Given the description of an element on the screen output the (x, y) to click on. 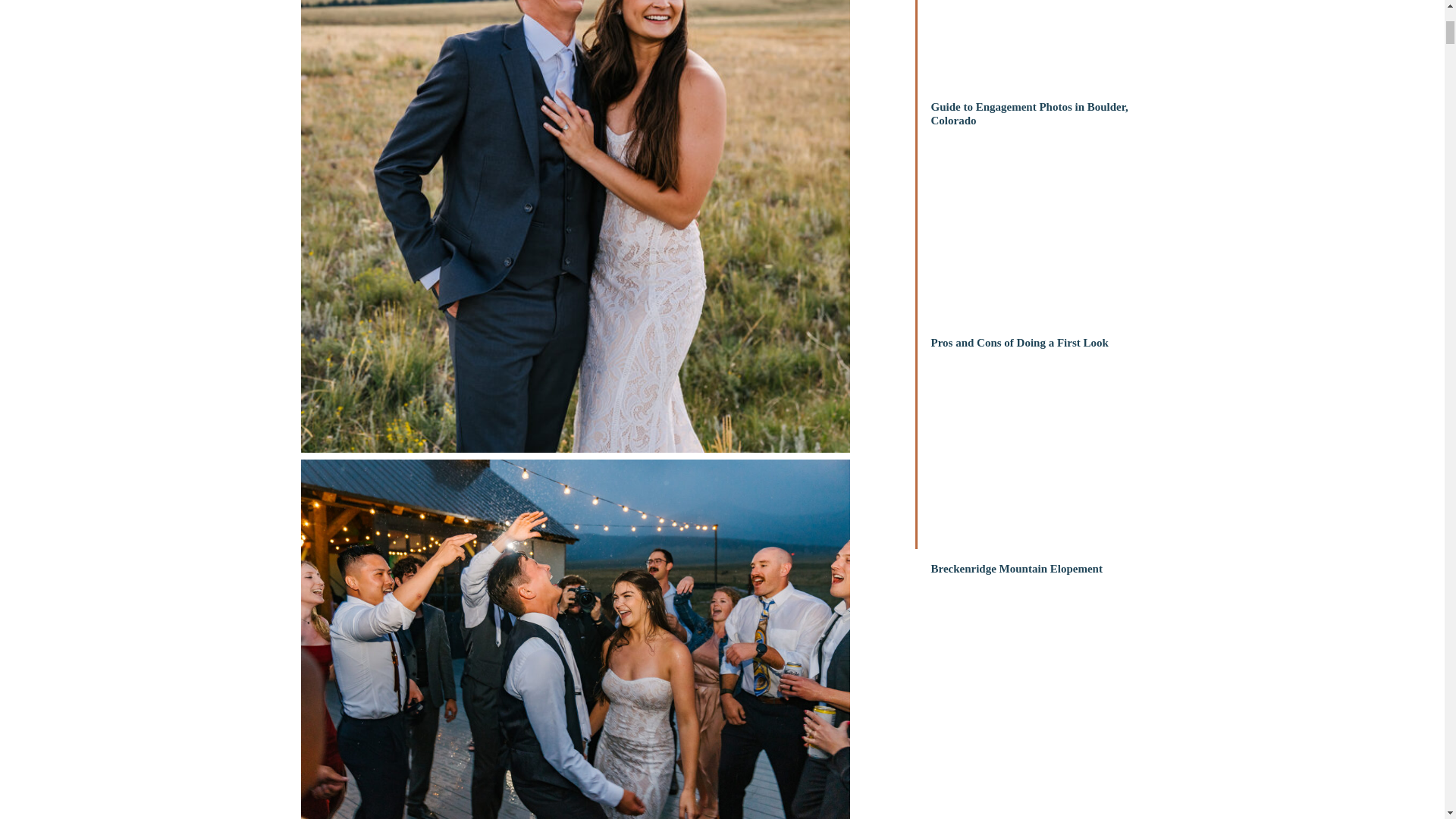
Guide to Engagement Photos in Boulder, Colorado (1044, 128)
Pros and Cons of Doing a First Look (1044, 364)
Breckenridge Mountain Elopement (1044, 590)
